Given the description of an element on the screen output the (x, y) to click on. 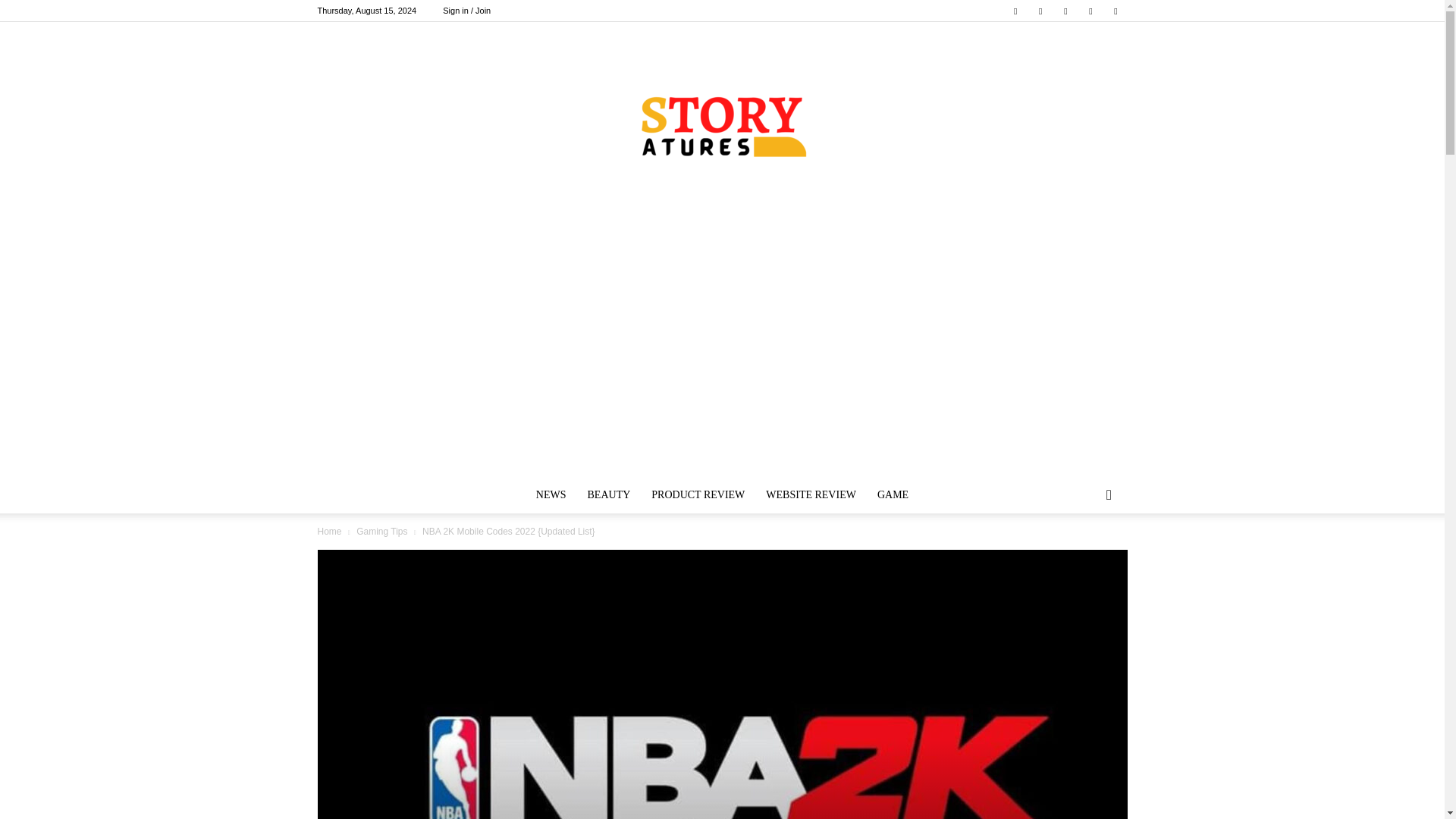
WEBSITE REVIEW (810, 494)
GAME (892, 494)
Search (1085, 555)
View all posts in Gaming Tips (381, 531)
Youtube (1114, 10)
BEAUTY (609, 494)
Home (328, 531)
Gaming Tips (381, 531)
